Given the description of an element on the screen output the (x, y) to click on. 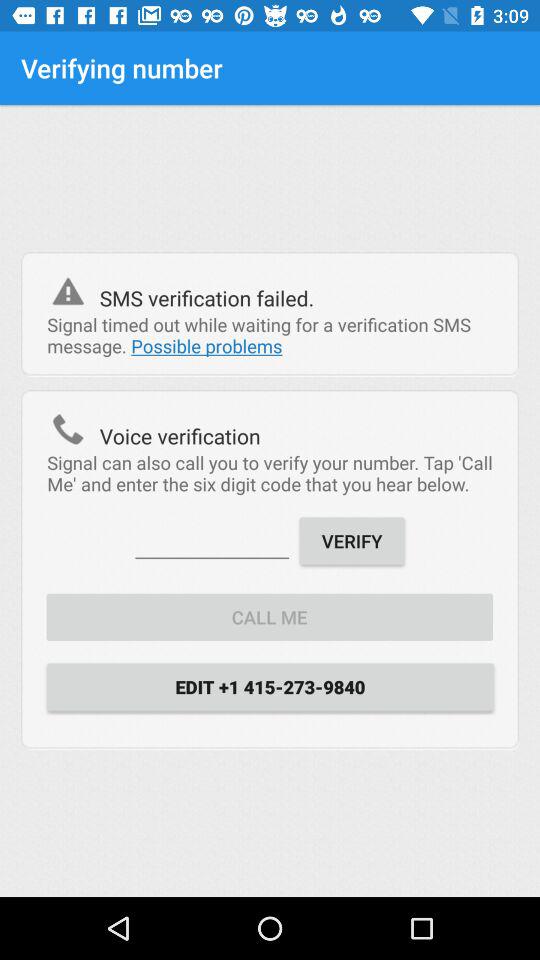
turn on item below the signal can also icon (212, 539)
